Given the description of an element on the screen output the (x, y) to click on. 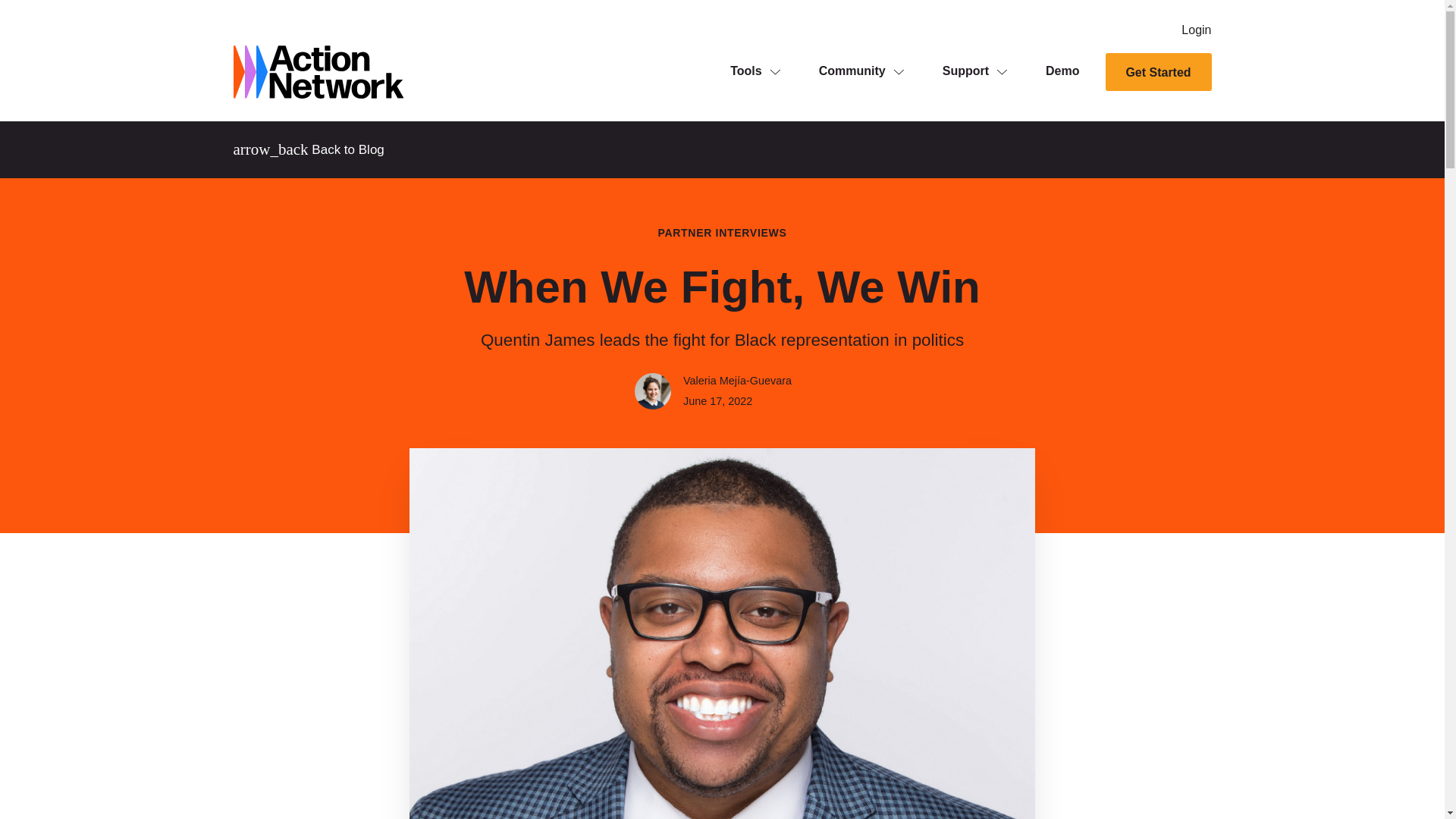
Community (851, 71)
Support (965, 71)
Login (1195, 30)
PARTNER INTERVIEWS (722, 233)
Get Started (1158, 71)
